Given the description of an element on the screen output the (x, y) to click on. 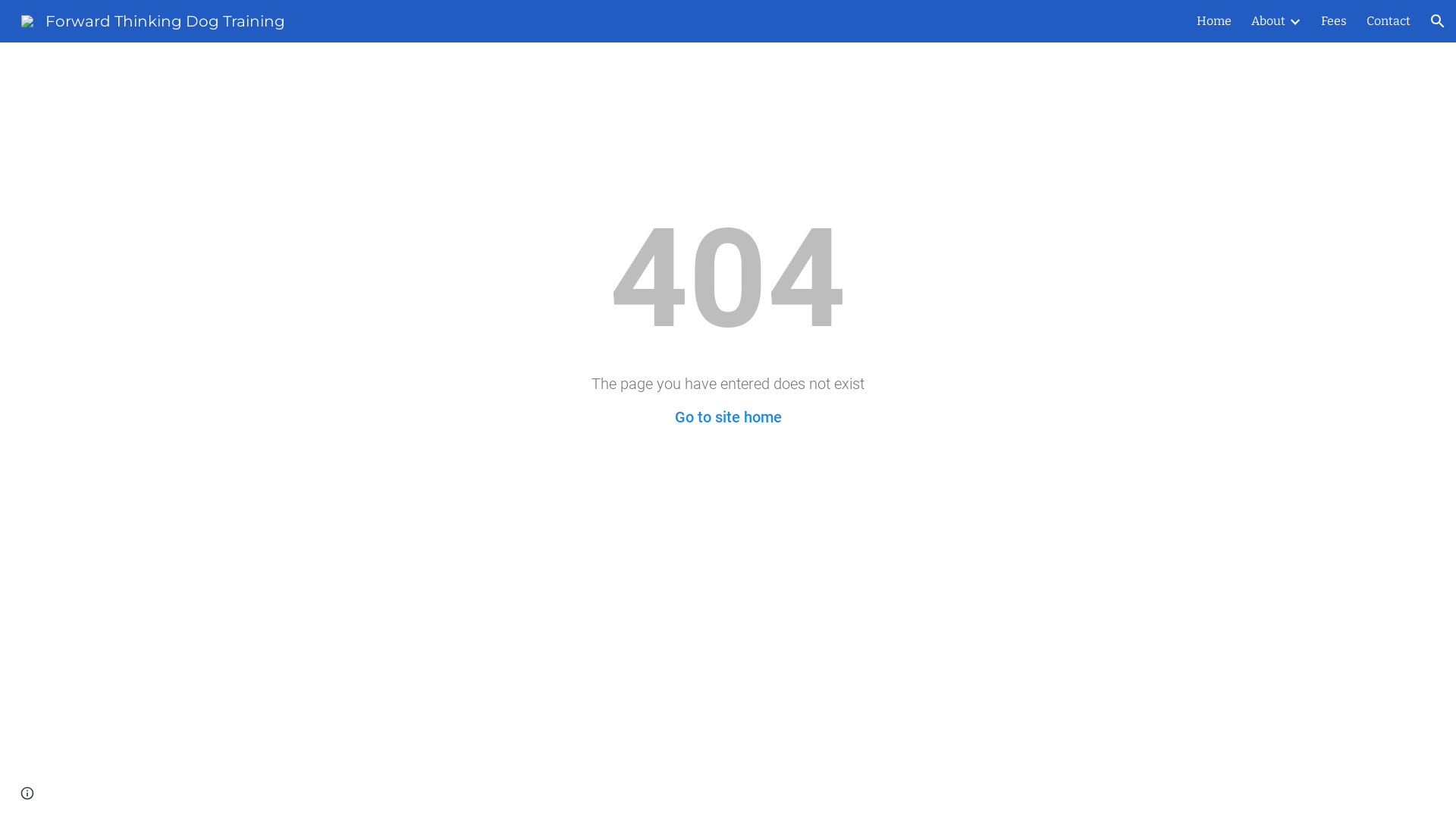
Go to site home Element type: text (727, 416)
Fees Element type: text (1333, 20)
About Element type: text (1268, 20)
Contact Element type: text (1388, 20)
Expand/Collapse Element type: hover (1294, 20)
Home Element type: text (1213, 20)
Forward Thinking Dog Training Element type: text (153, 19)
